Given the description of an element on the screen output the (x, y) to click on. 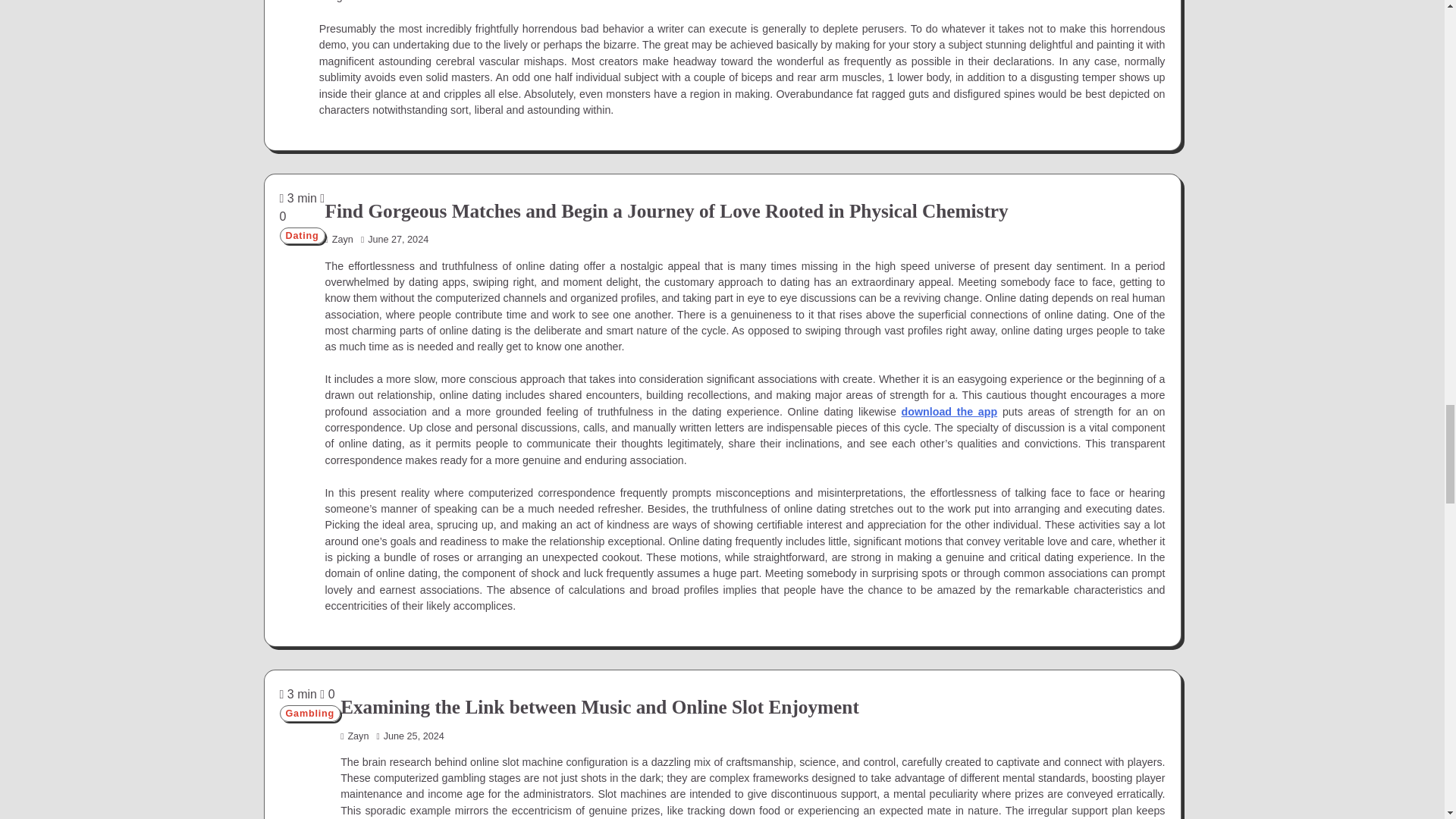
Zayn (338, 239)
Zayn (354, 736)
Examining the Link between Music and Online Slot Enjoyment (599, 706)
download the app (949, 411)
Gambling (309, 713)
Dating (301, 235)
